Given the description of an element on the screen output the (x, y) to click on. 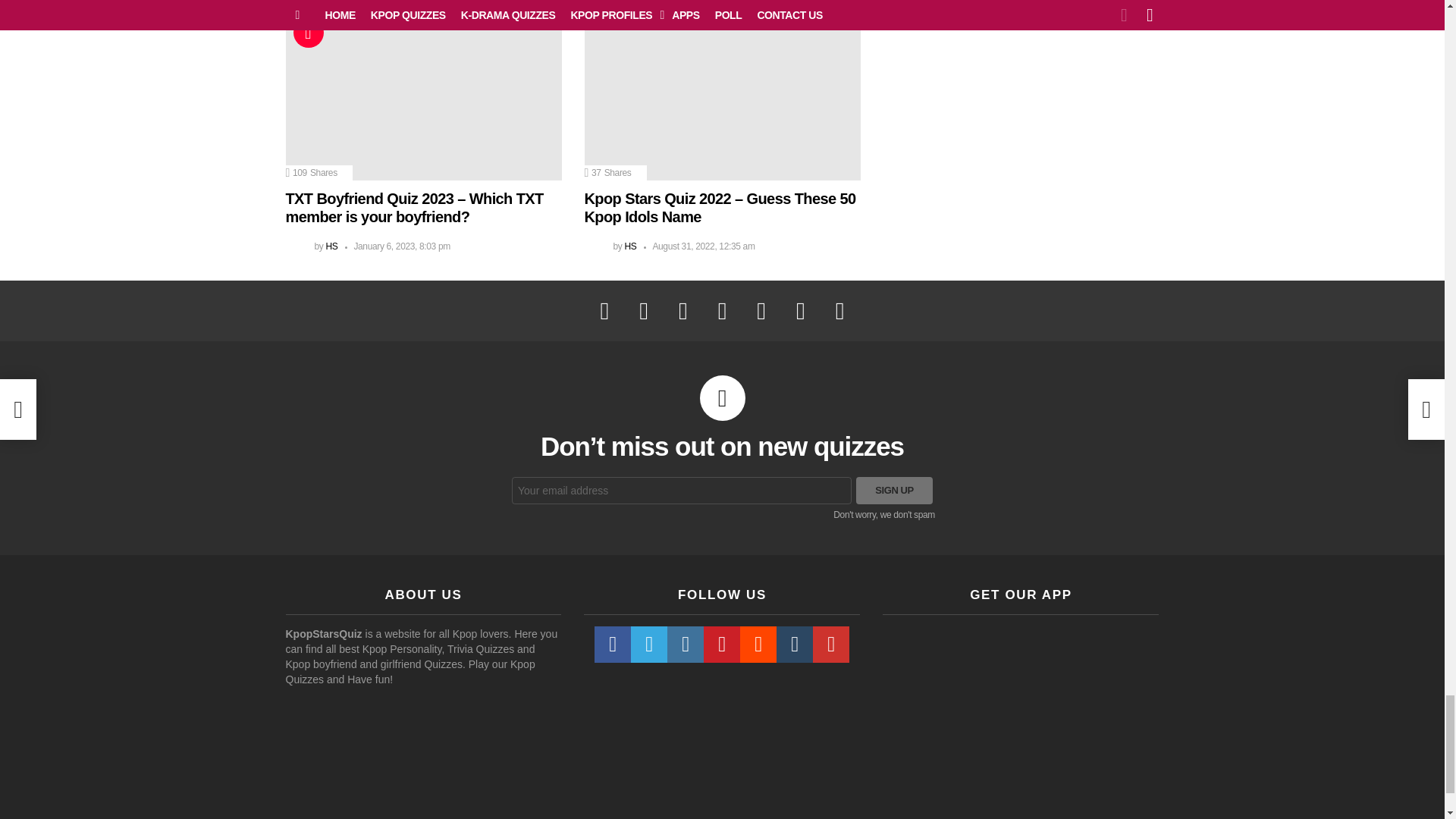
Sign up (894, 490)
